Given the description of an element on the screen output the (x, y) to click on. 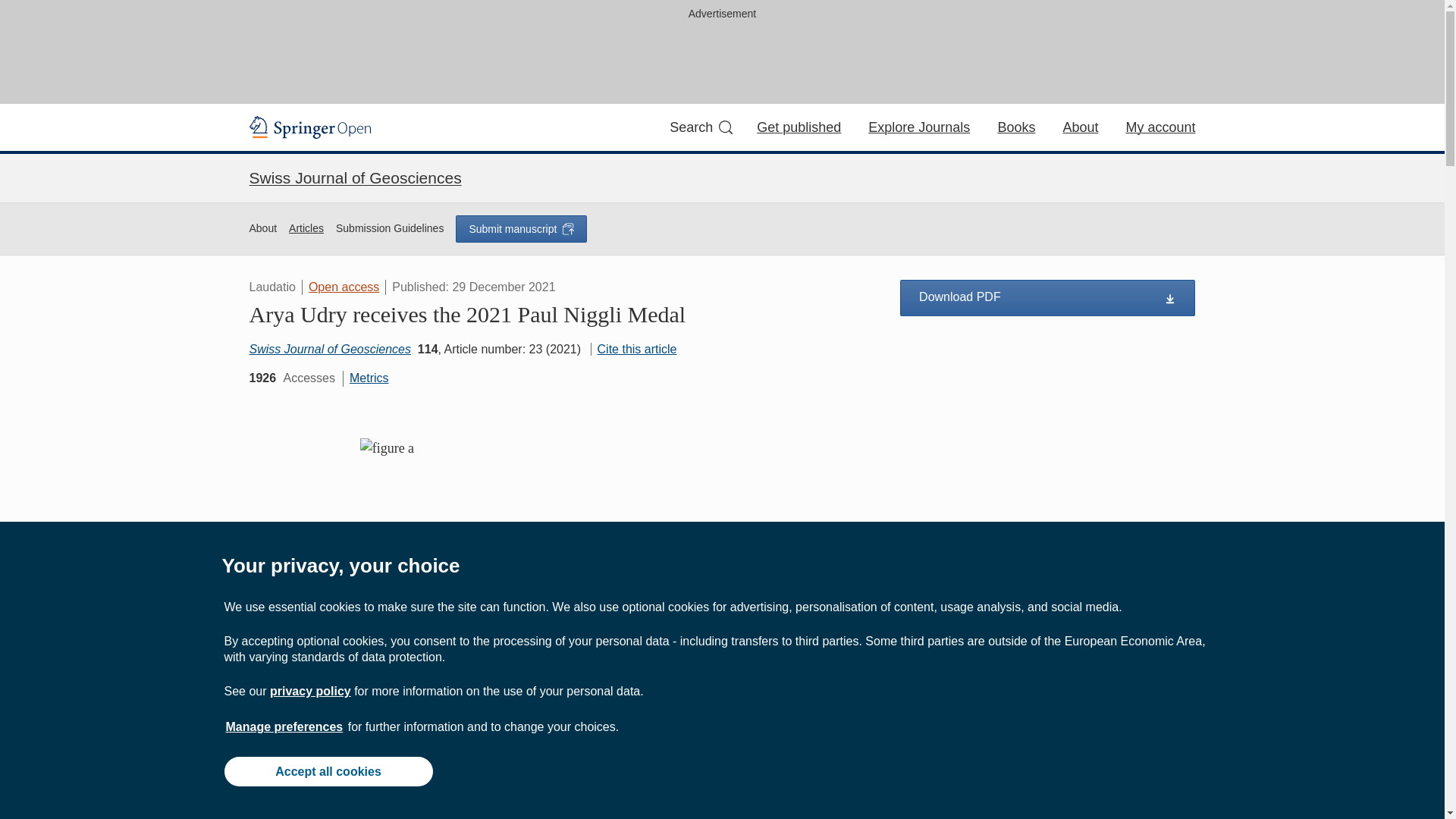
Manage preferences (284, 726)
Books (1016, 127)
Cite this article (634, 349)
Download PDF (1047, 298)
Submit manuscript (520, 228)
Submission Guidelines (390, 228)
About (1079, 127)
Metrics (368, 377)
Swiss Journal of Geosciences (354, 177)
Open access (343, 286)
